Given the description of an element on the screen output the (x, y) to click on. 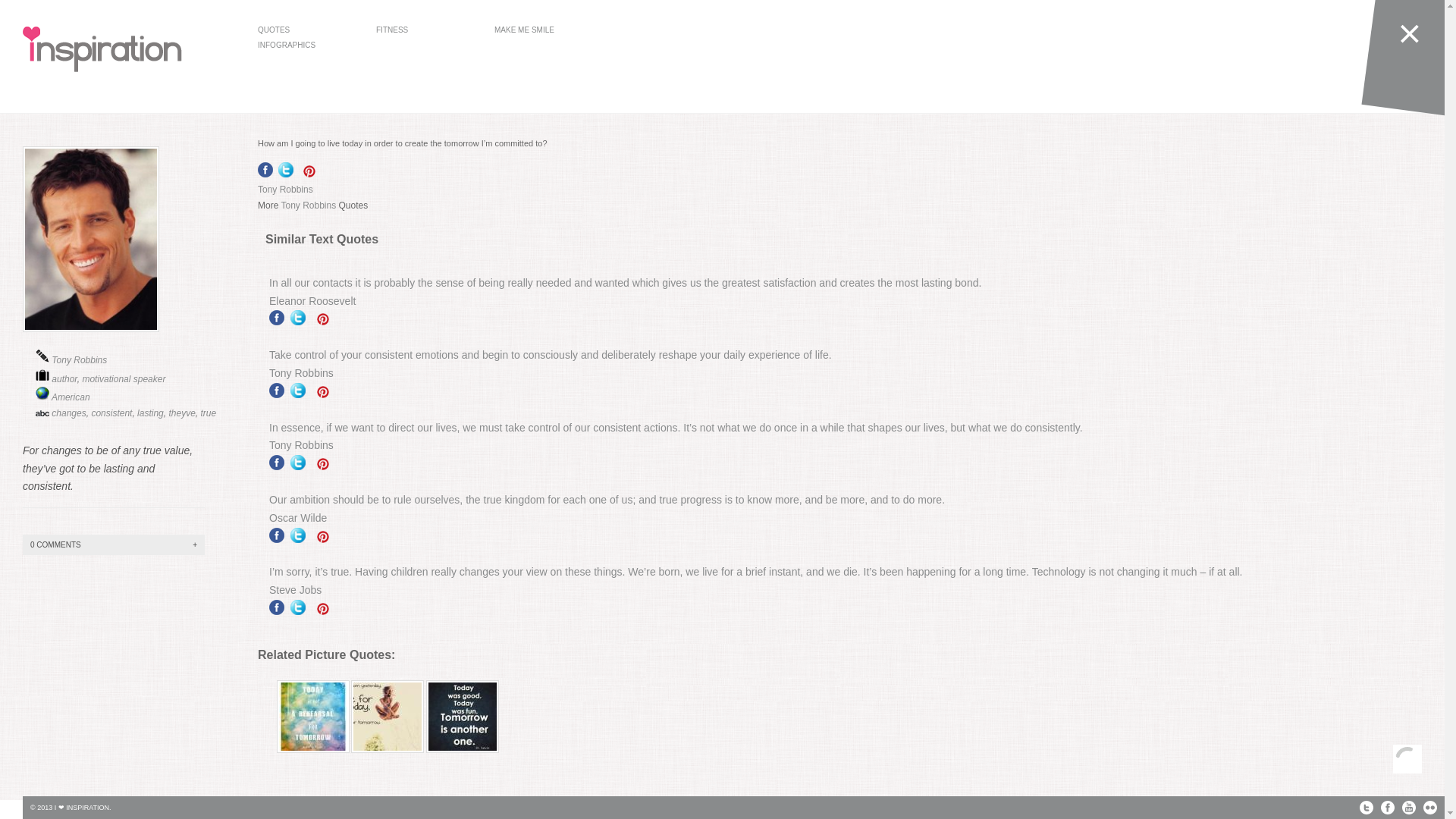
QUOTES (305, 29)
Today was good. Today was fun. Tomorrow is another one. (462, 716)
Tony Robbins (308, 204)
Oscar Wilde (297, 517)
author (63, 378)
INFOGRAPHICS (305, 45)
MAKE ME SMILE (542, 29)
true (207, 412)
Infographic (305, 45)
Tony Robbins (301, 444)
Tony Robbins (285, 189)
Tony Robbins (78, 359)
lasting (149, 412)
Fitness (423, 29)
consistent (111, 412)
